Given the description of an element on the screen output the (x, y) to click on. 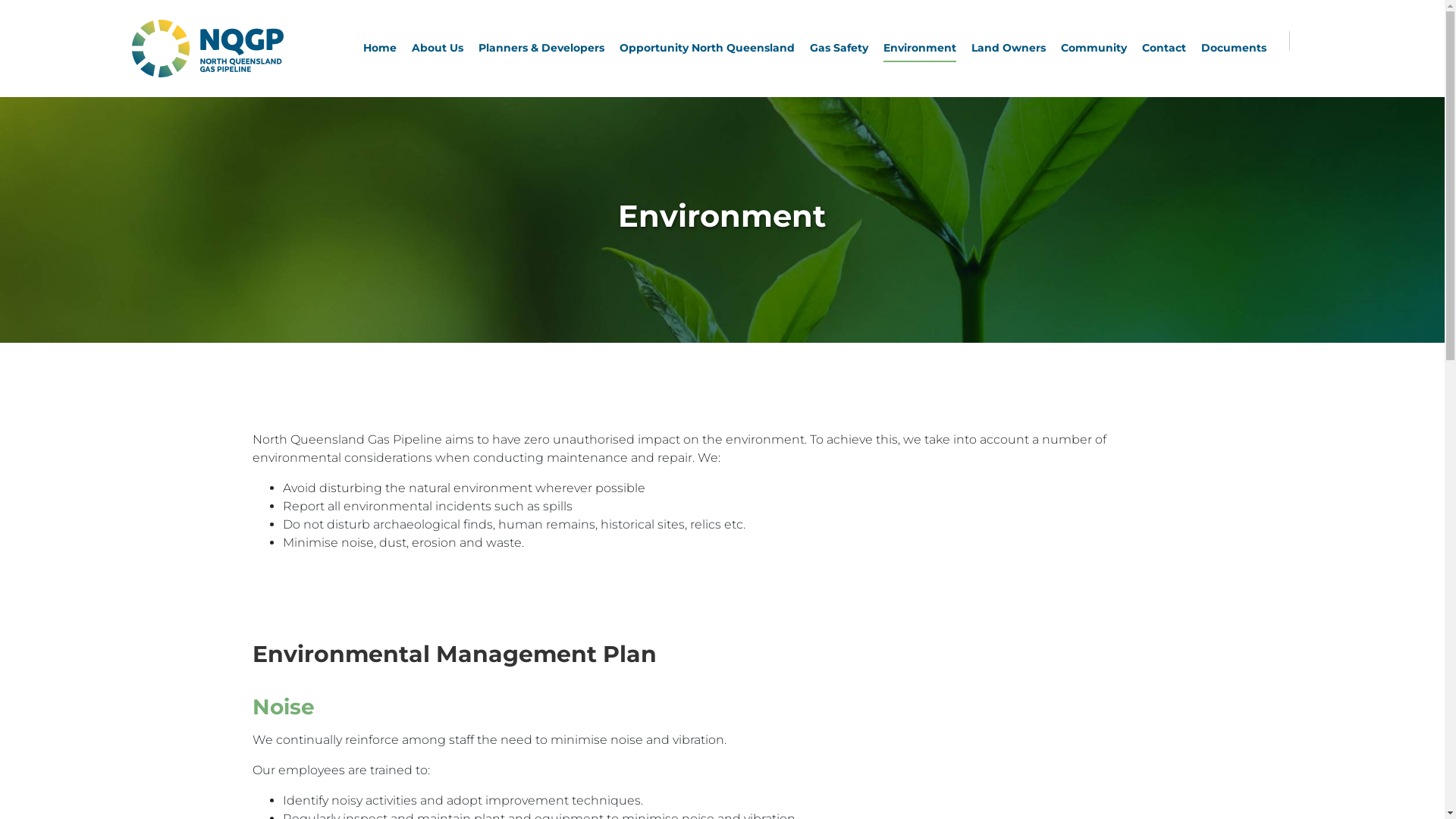
Home Element type: text (379, 48)
Documents Element type: text (1233, 48)
About Us Element type: text (437, 48)
Gas Safety Element type: text (838, 48)
Planners & Developers Element type: text (540, 48)
Land Owners Element type: text (1008, 48)
Community Element type: text (1093, 48)
Contact Element type: text (1163, 48)
Environment Element type: text (919, 48)
Opportunity North Queensland Element type: text (706, 48)
